Given the description of an element on the screen output the (x, y) to click on. 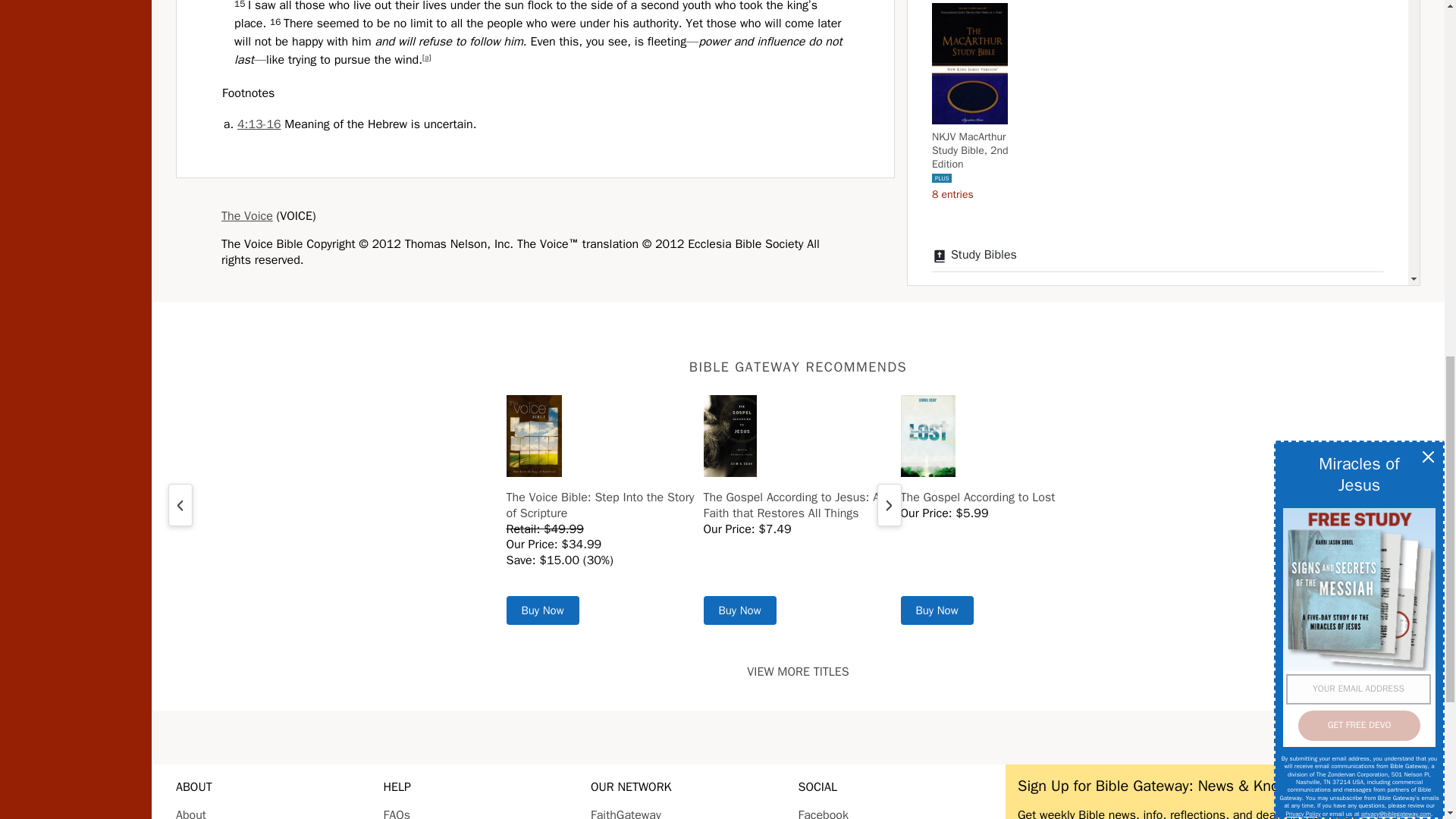
The Voice (247, 215)
Go to Ecclesiastes 4:16 (259, 124)
4:13-16 (259, 124)
